Given the description of an element on the screen output the (x, y) to click on. 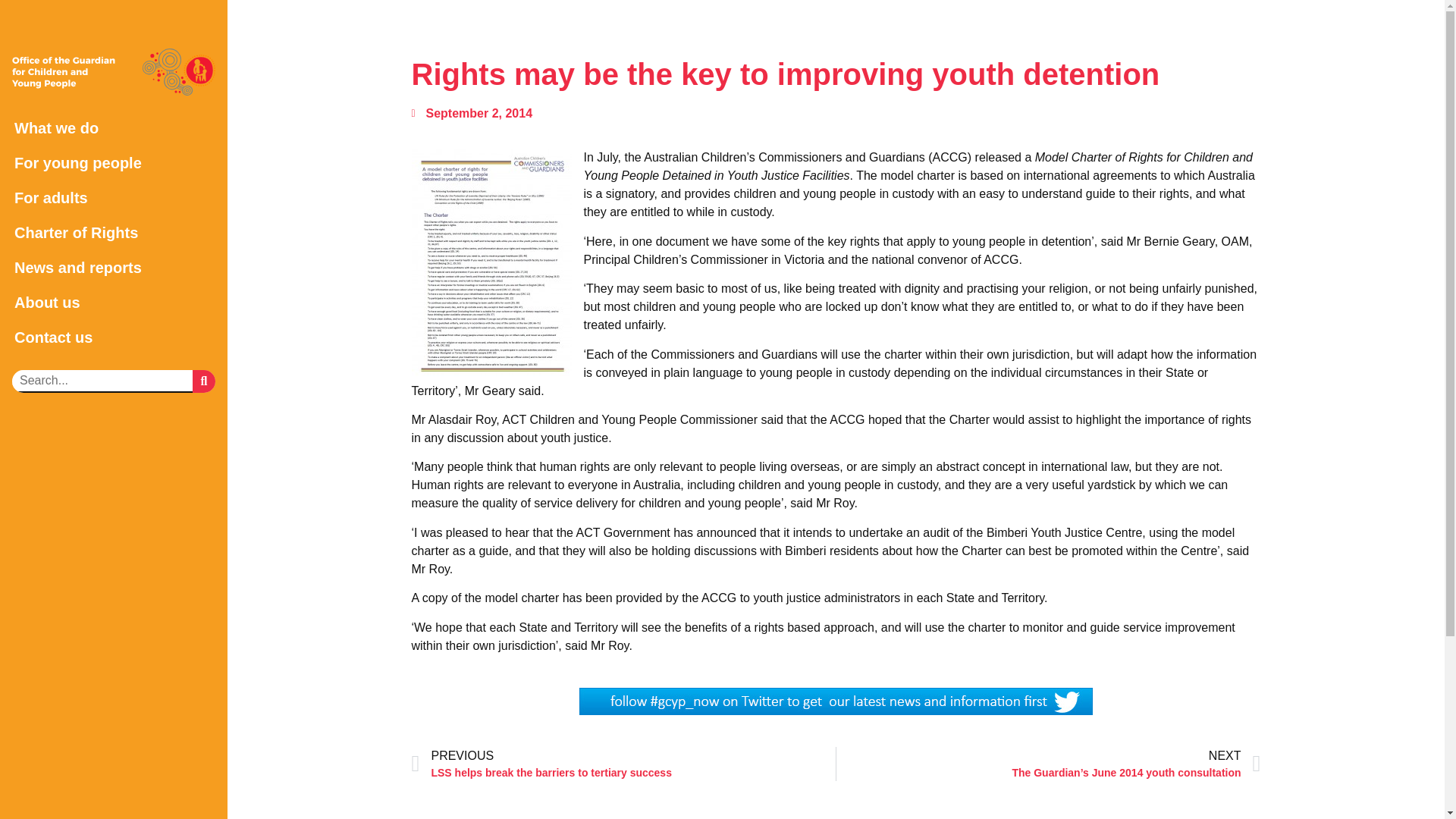
For adults (113, 197)
News and reports (113, 267)
Charter of Rights (113, 232)
Contact us (113, 337)
For young people (113, 162)
What we do (113, 127)
About us (113, 302)
